Given the description of an element on the screen output the (x, y) to click on. 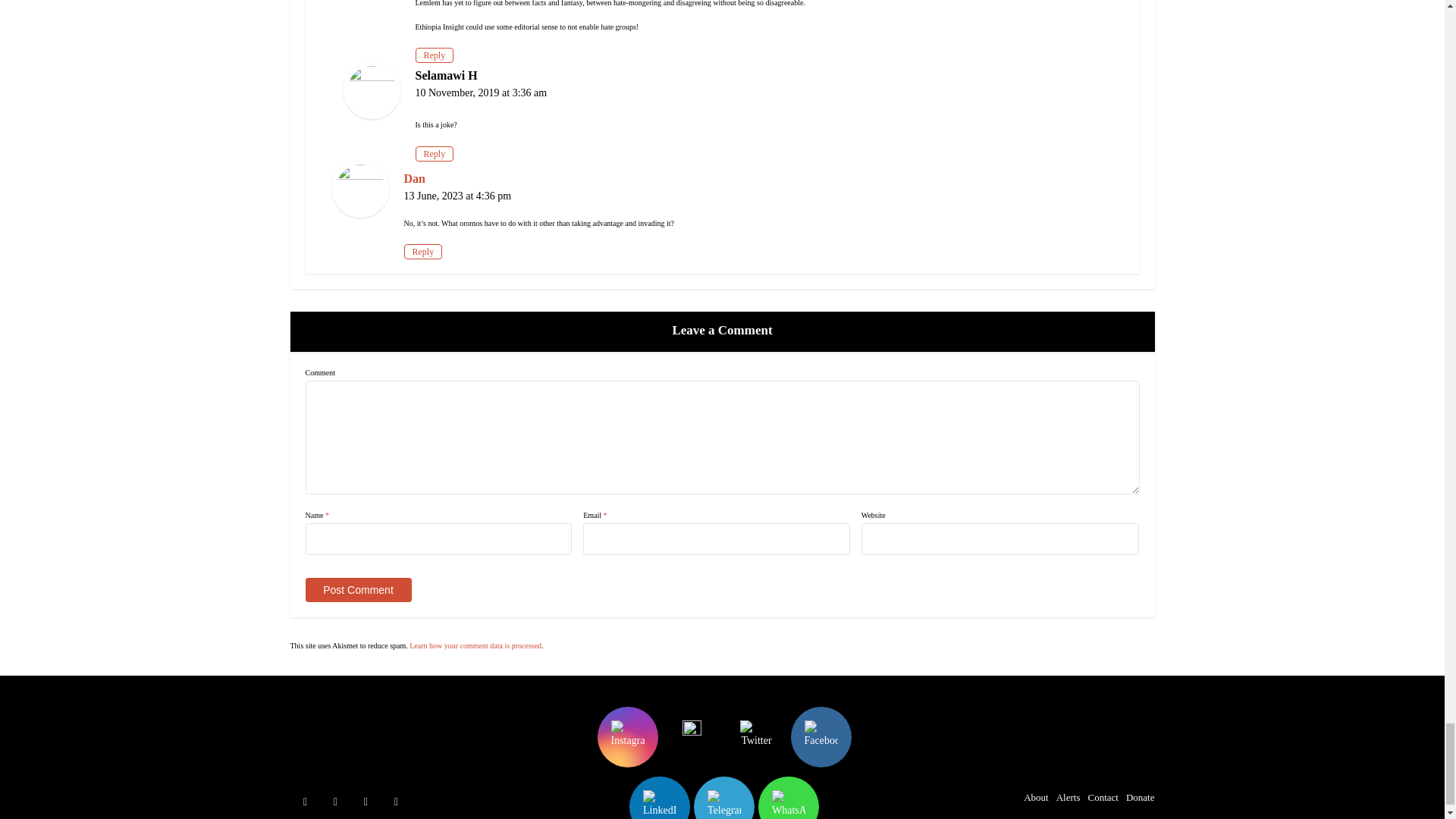
Post Comment (357, 589)
Instagram (628, 736)
Facebook (820, 736)
Twitter (756, 736)
